Given the description of an element on the screen output the (x, y) to click on. 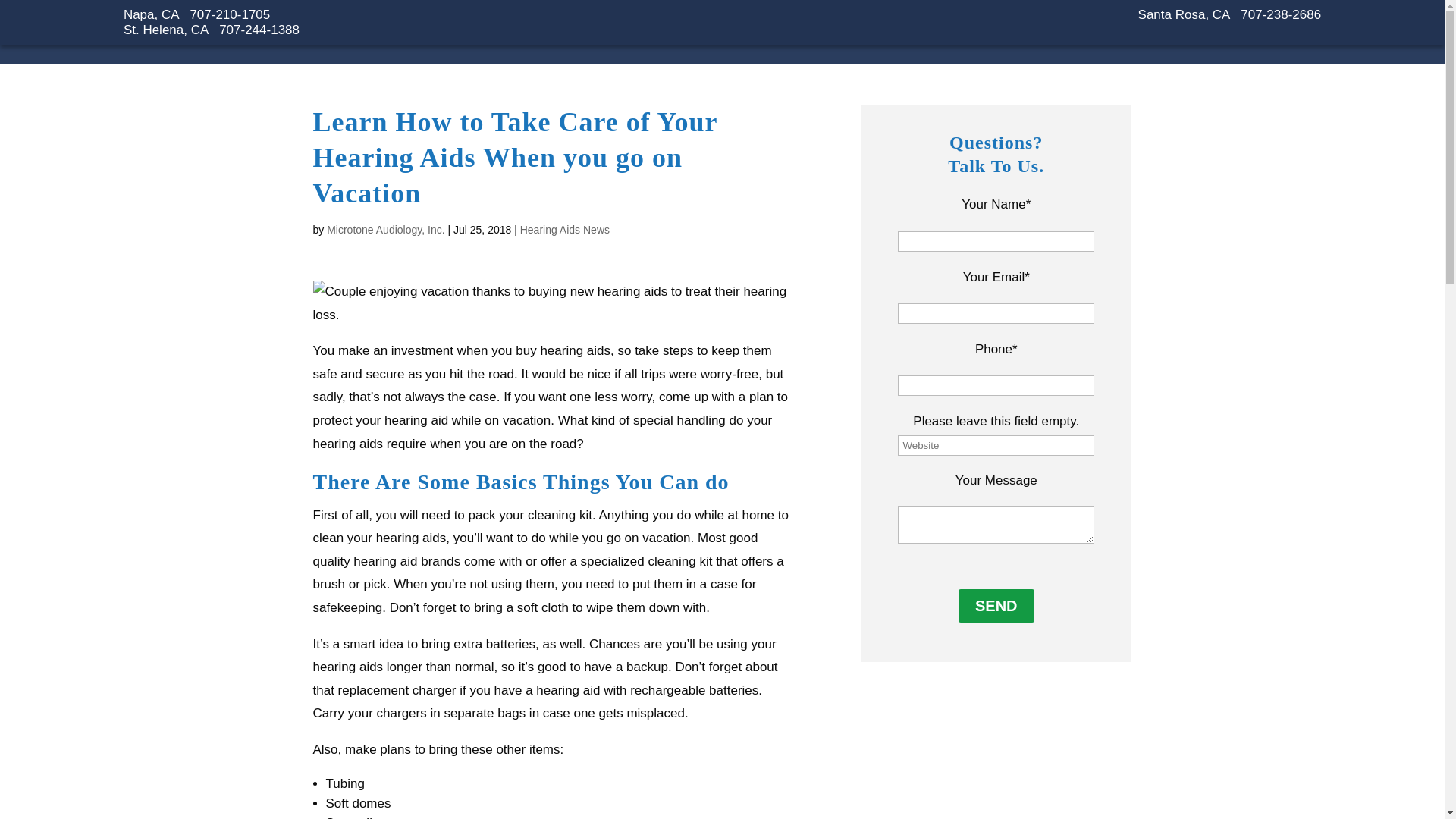
Hearing Aids News (564, 229)
Hearing Aids (958, 37)
Microtone Audiology, Inc. (385, 229)
Microtone Audiology, Inc. (310, 28)
707-210-1705 (229, 14)
Reviews (1212, 44)
Napa, CA (151, 14)
About Us (1140, 44)
Contact Us (1288, 37)
707-244-1388 (259, 29)
